Given the description of an element on the screen output the (x, y) to click on. 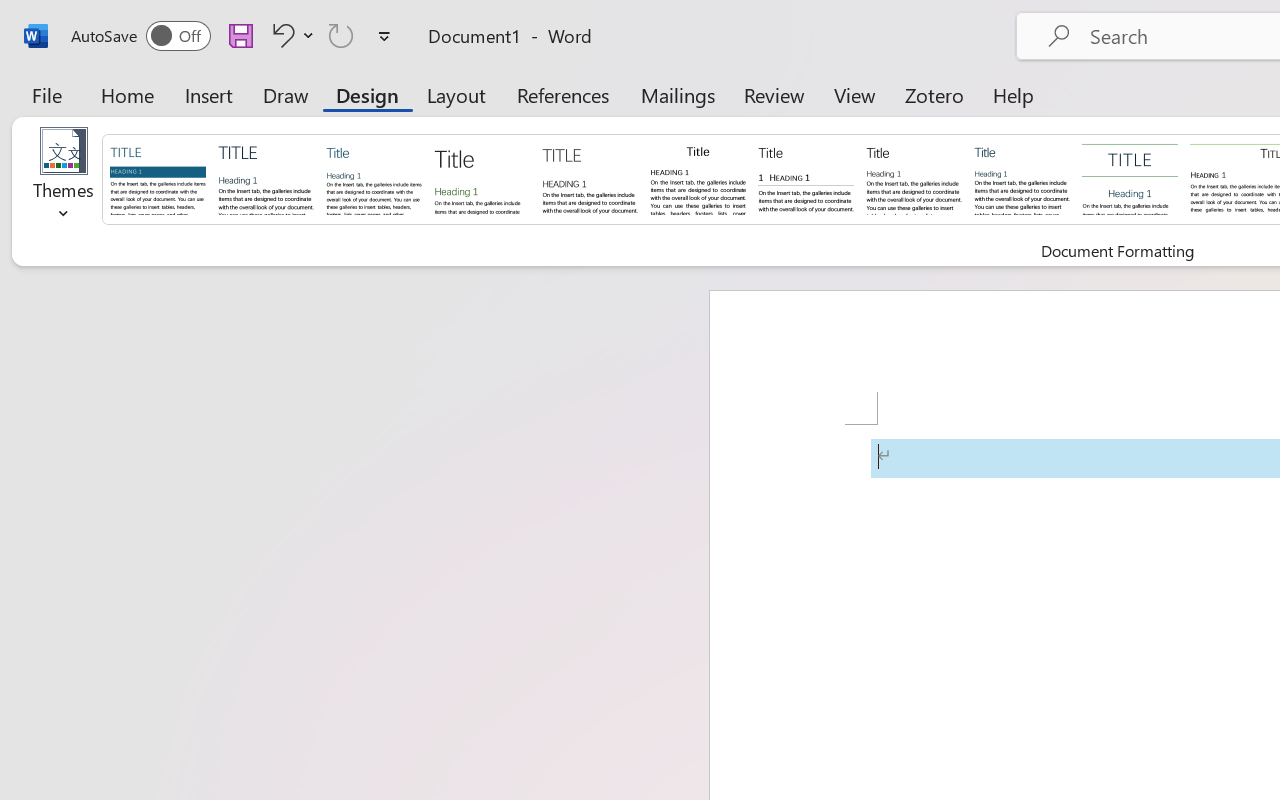
Black & White (Capitalized) (589, 178)
Black & White (Word 2013) (913, 178)
Themes (63, 179)
Centered (1130, 178)
Black & White (Classic) (697, 178)
